Given the description of an element on the screen output the (x, y) to click on. 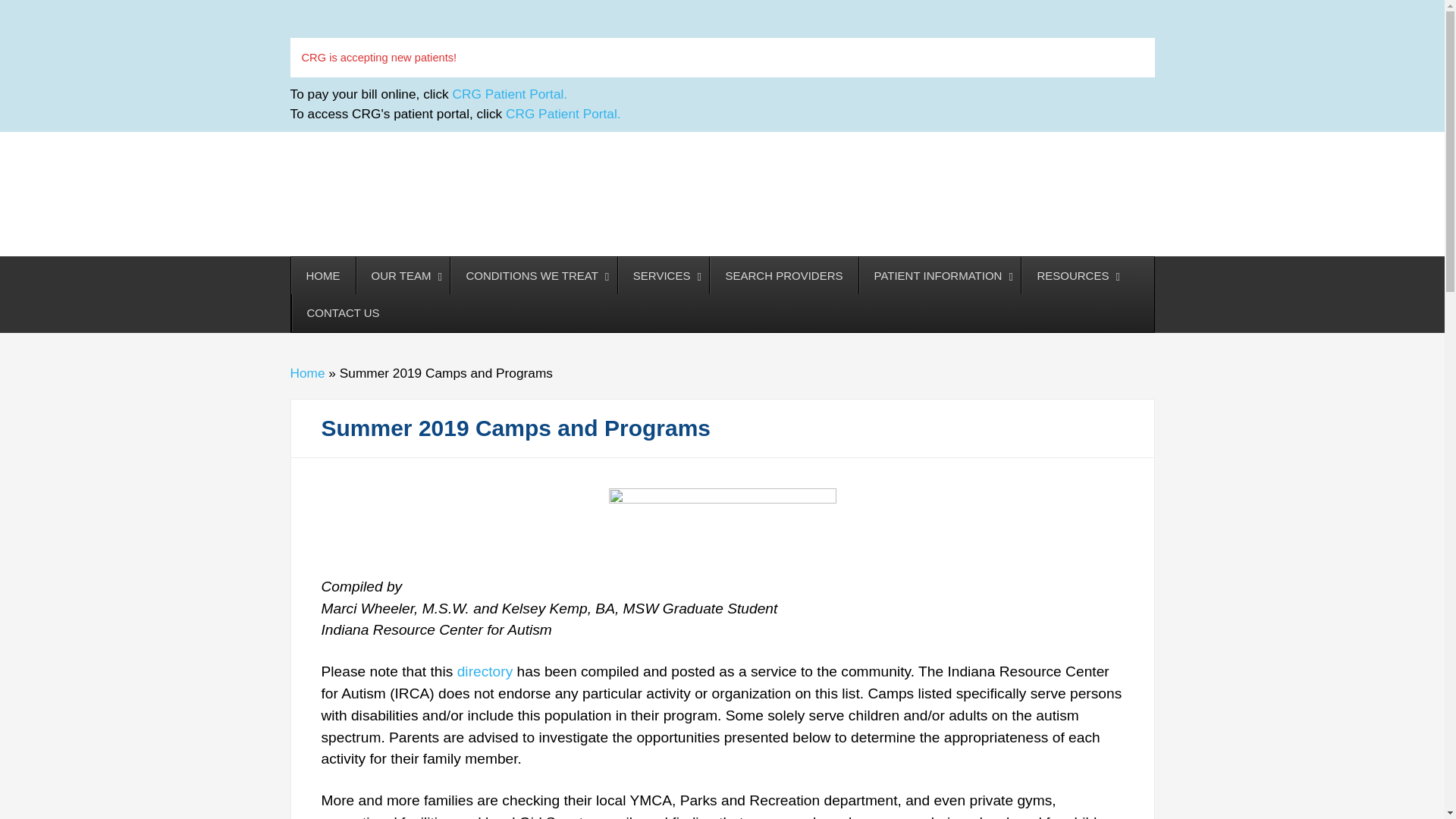
CRG Patient Portal. (509, 93)
CRG Patient Portal. (563, 113)
HOME (323, 275)
CONDITIONS WE TREAT (532, 275)
